Given the description of an element on the screen output the (x, y) to click on. 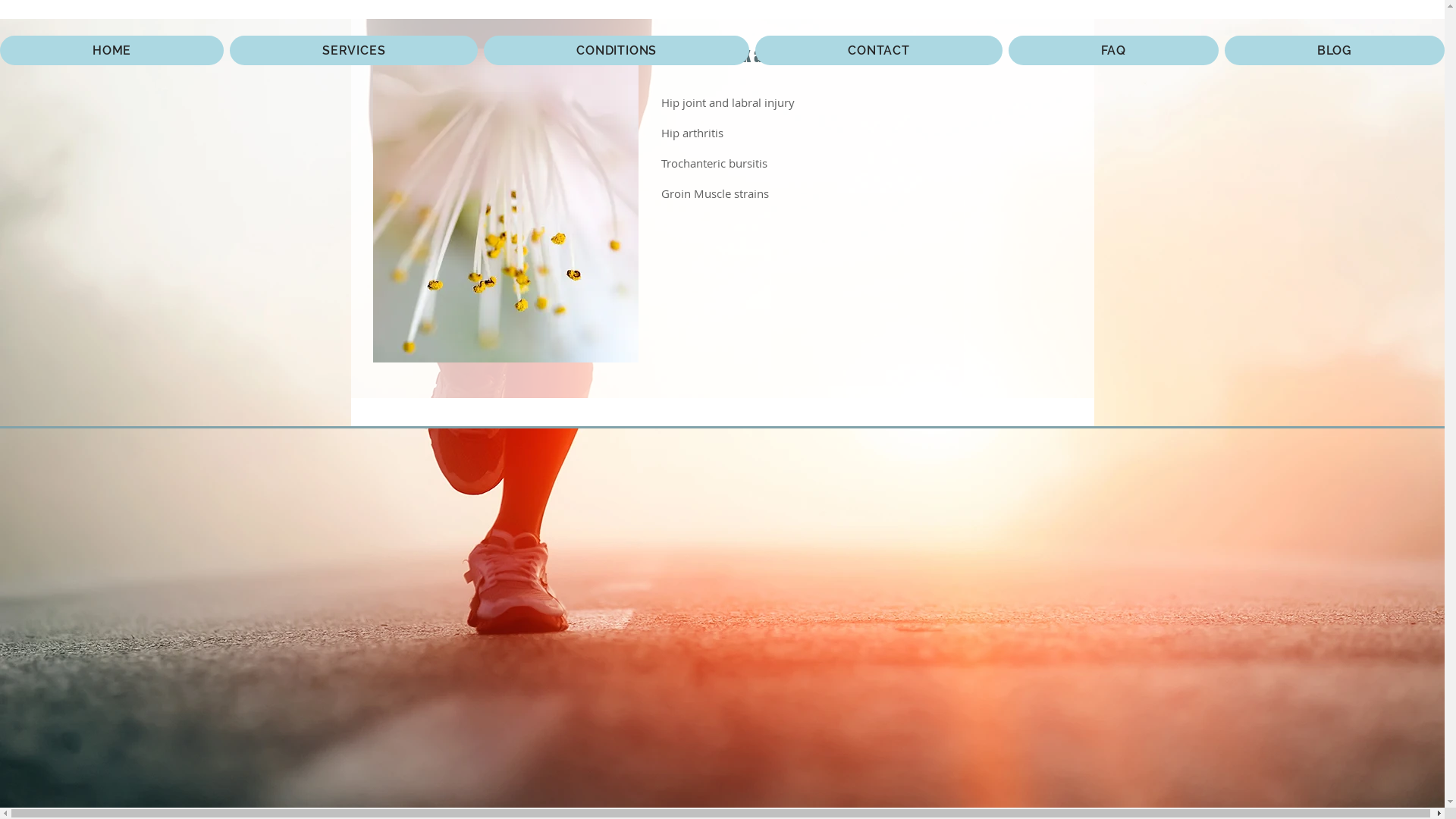
BLOG Element type: text (1334, 50)
SERVICES Element type: text (353, 50)
CONDITIONS Element type: text (616, 50)
FAQ Element type: text (1113, 50)
CONTACT Element type: text (878, 50)
HOME Element type: text (111, 50)
